Given the description of an element on the screen output the (x, y) to click on. 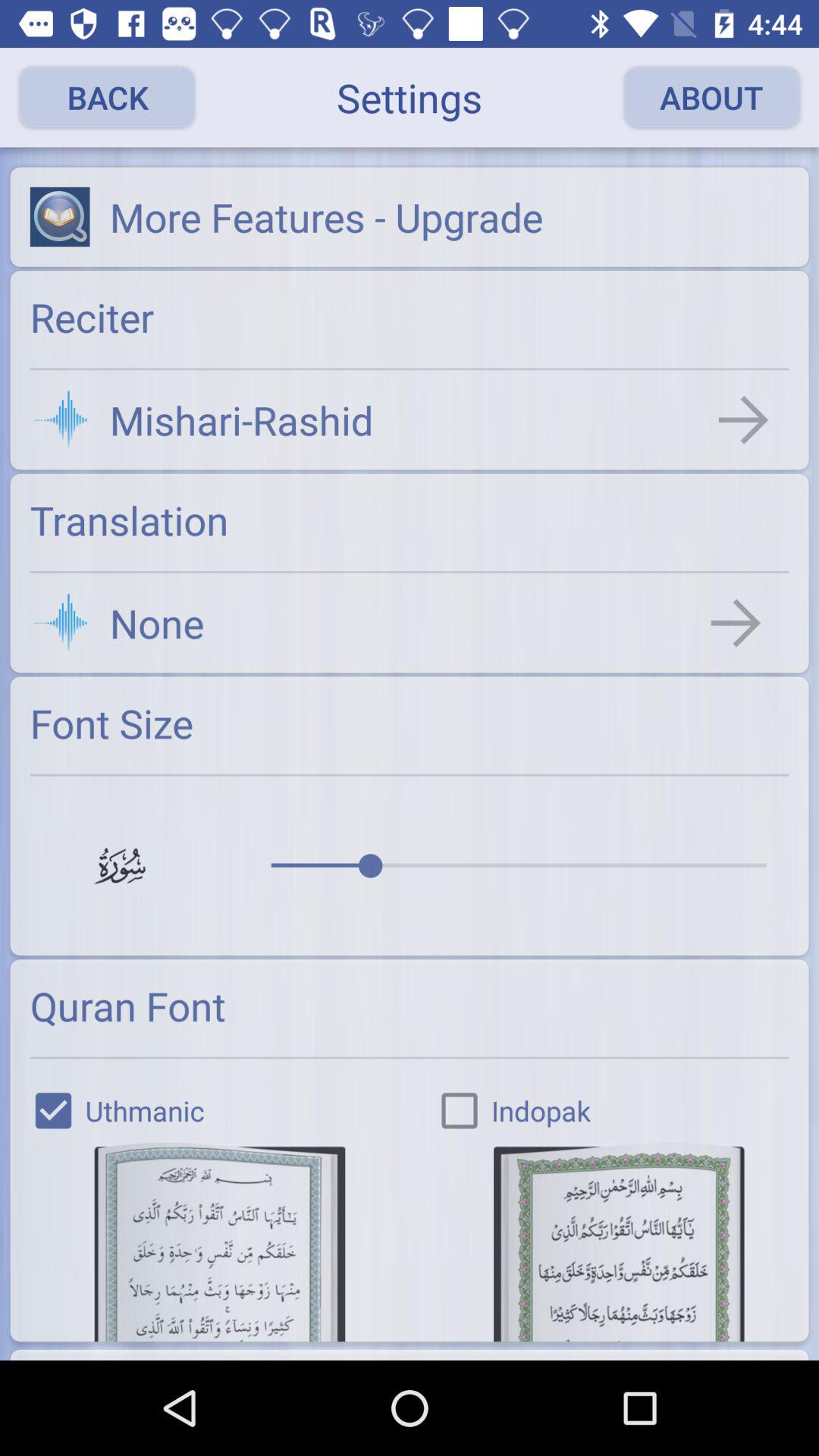
select font (219, 1241)
